Given the description of an element on the screen output the (x, y) to click on. 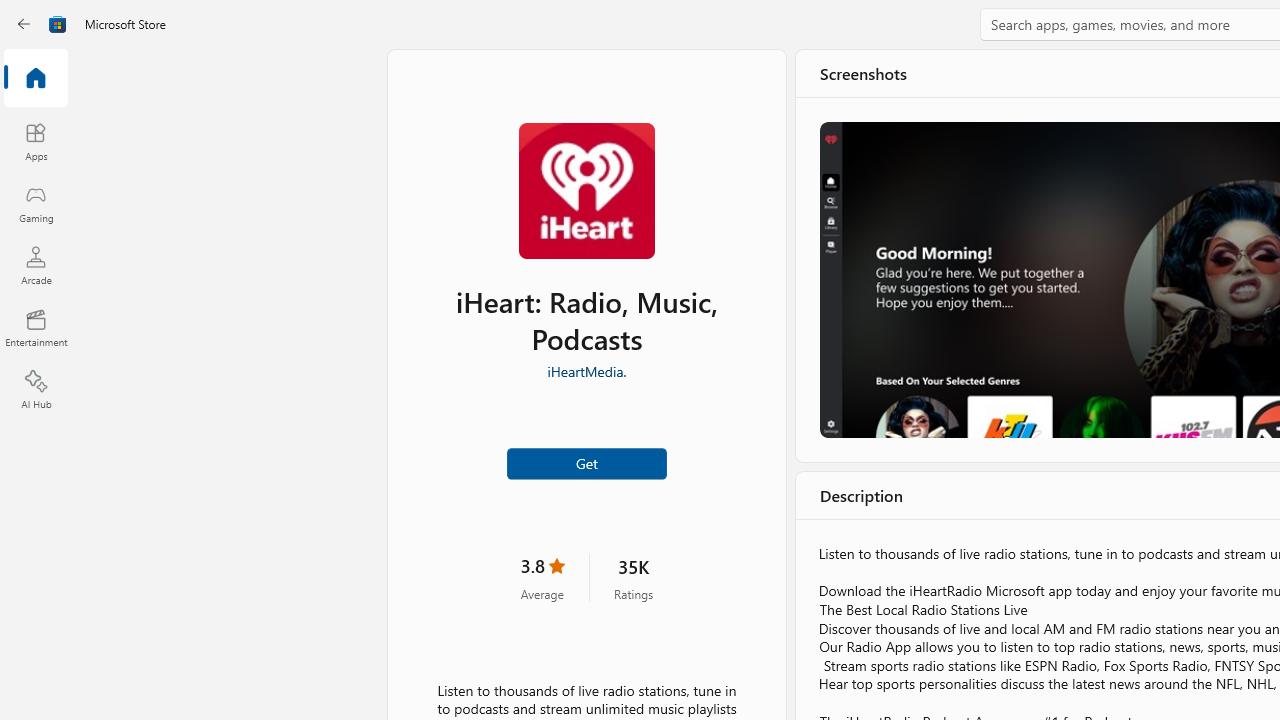
Entertainment (35, 327)
Gaming (35, 203)
AI Hub (35, 390)
Arcade (35, 265)
Home (35, 79)
3.8 stars. Click to skip to ratings and reviews (542, 576)
Back (24, 24)
iHeartMedia. (585, 369)
Get (586, 462)
